Given the description of an element on the screen output the (x, y) to click on. 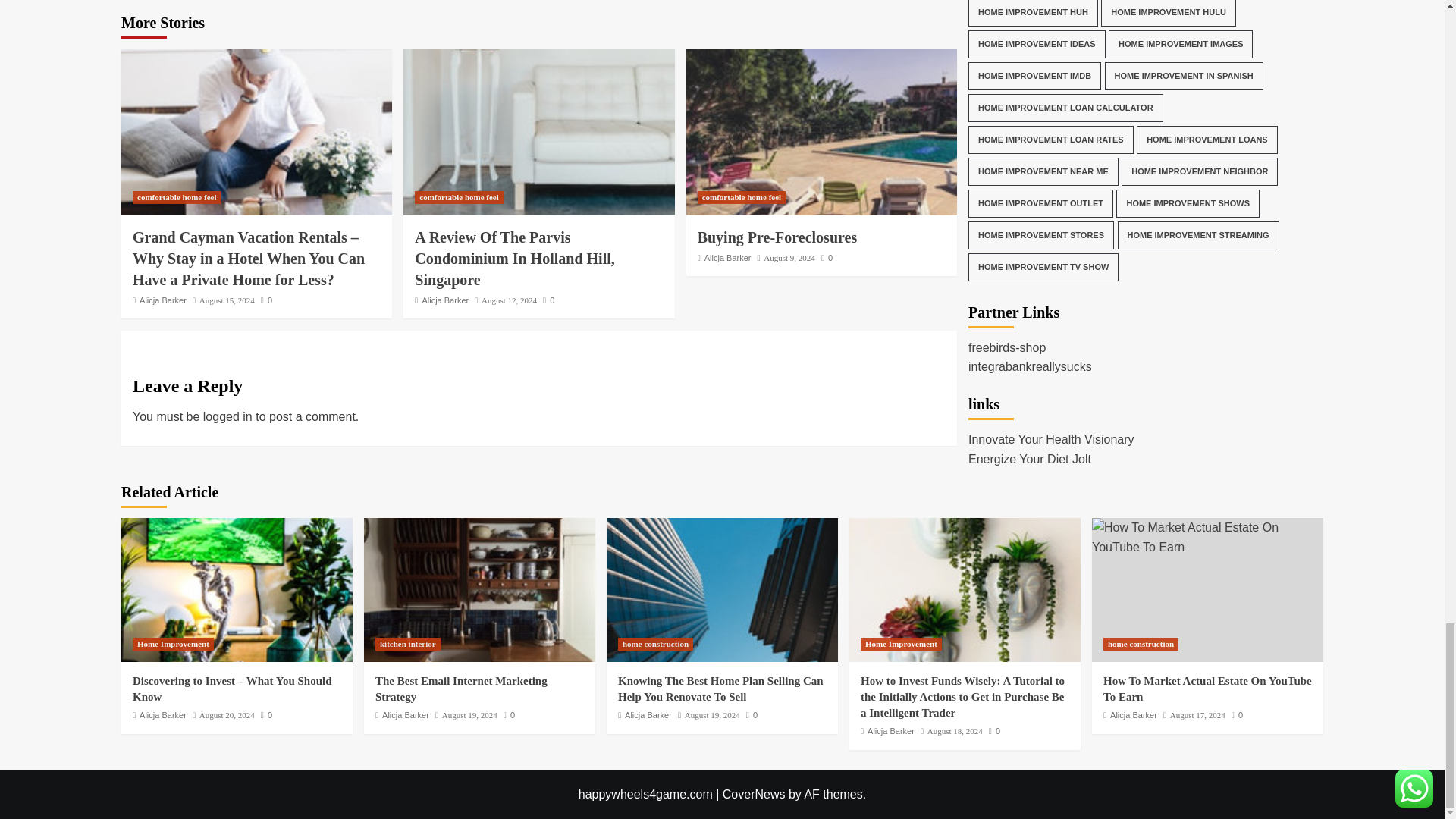
comfortable home feel (176, 196)
Alicja Barker (162, 299)
comfortable home feel (458, 196)
0 (266, 299)
The Best Email Internet Marketing Strategy (479, 589)
August 15, 2024 (226, 299)
Buying Pre-Foreclosures (820, 131)
